Given the description of an element on the screen output the (x, y) to click on. 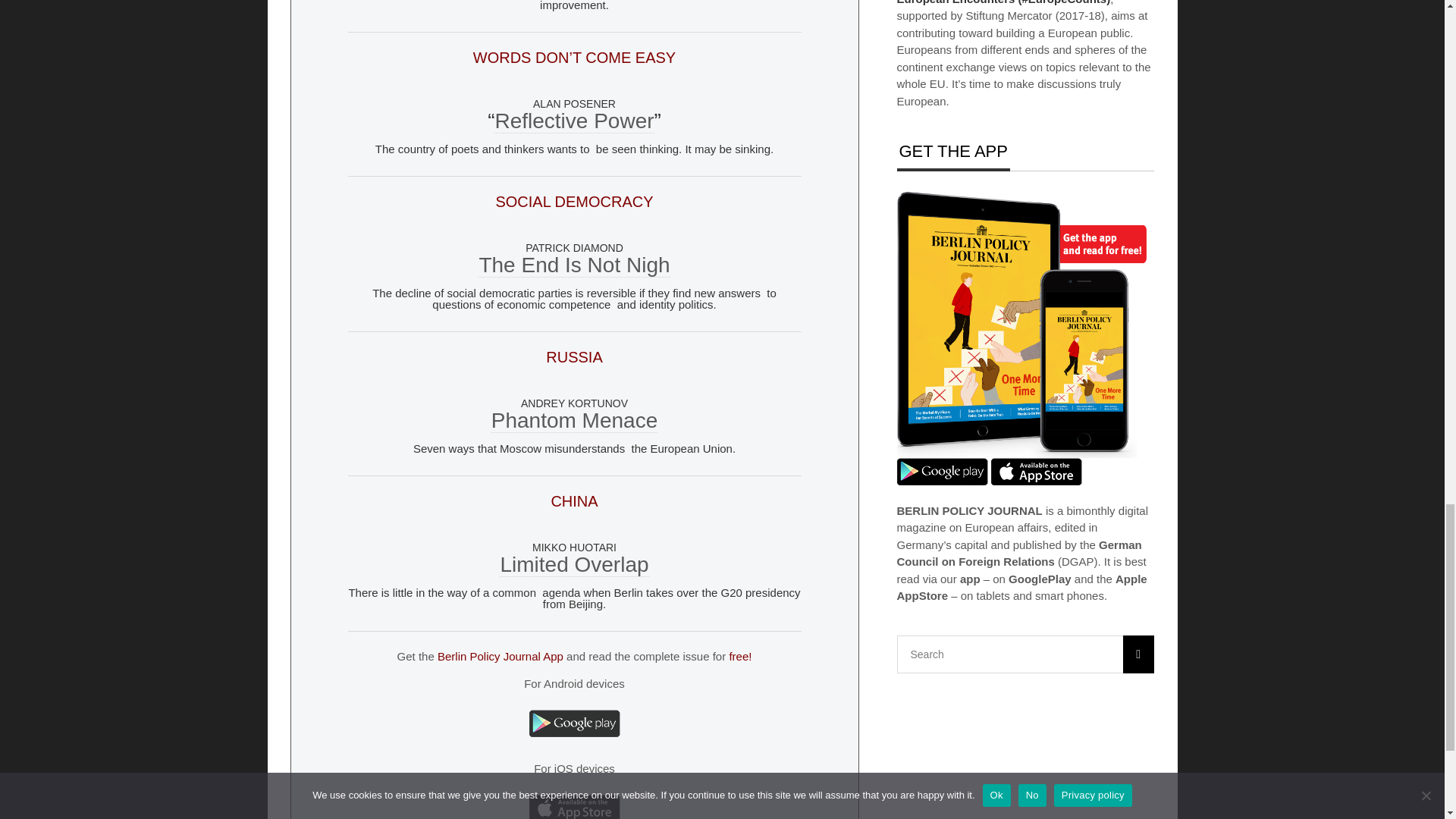
Reflective Power (574, 120)
The End Is Not Nigh (574, 265)
Limited Overlap (573, 564)
Search (1025, 654)
Phantom Menace (575, 420)
